Given the description of an element on the screen output the (x, y) to click on. 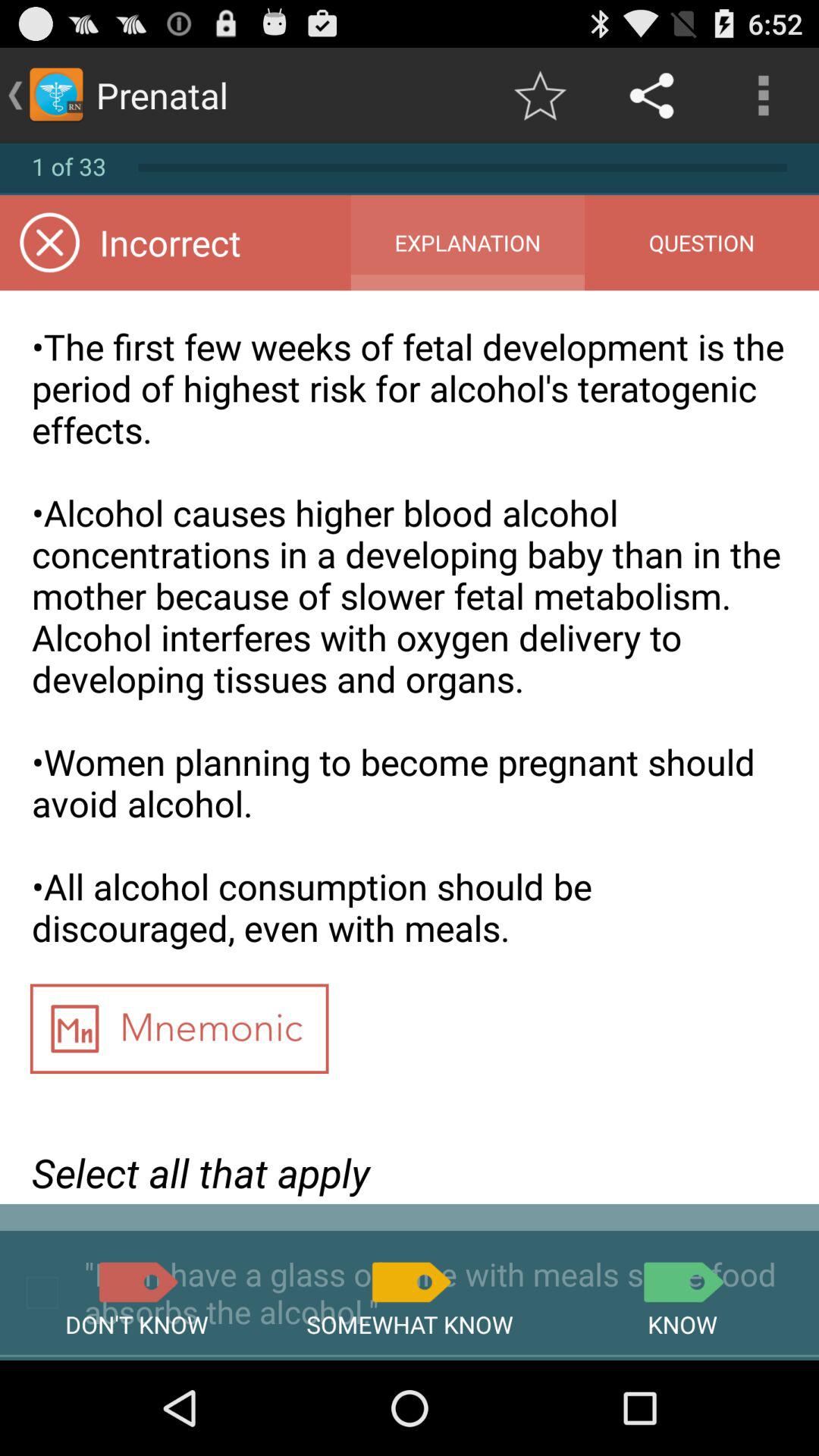
select do n't know (136, 1281)
